Given the description of an element on the screen output the (x, y) to click on. 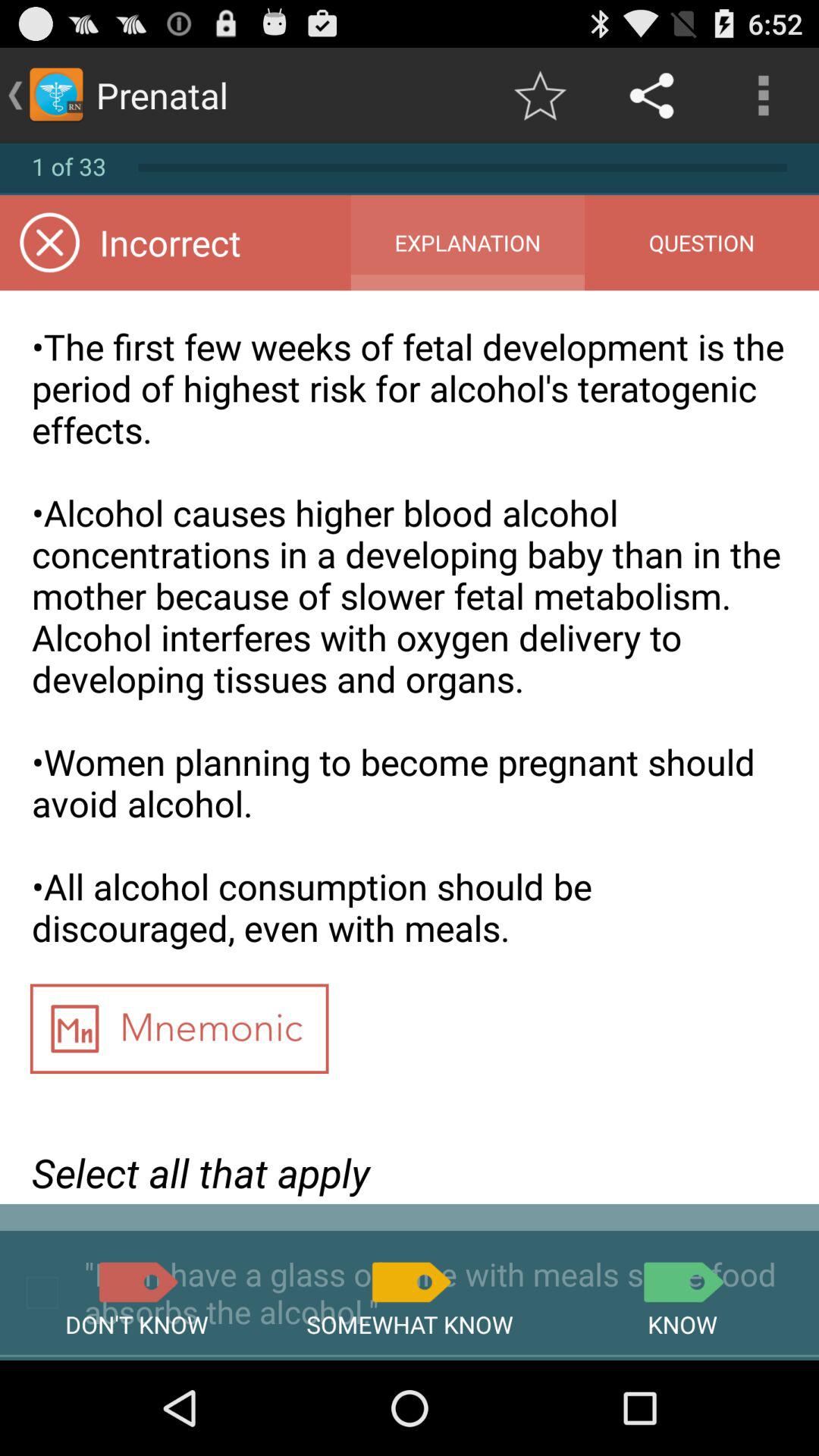
select do n't know (136, 1281)
